Given the description of an element on the screen output the (x, y) to click on. 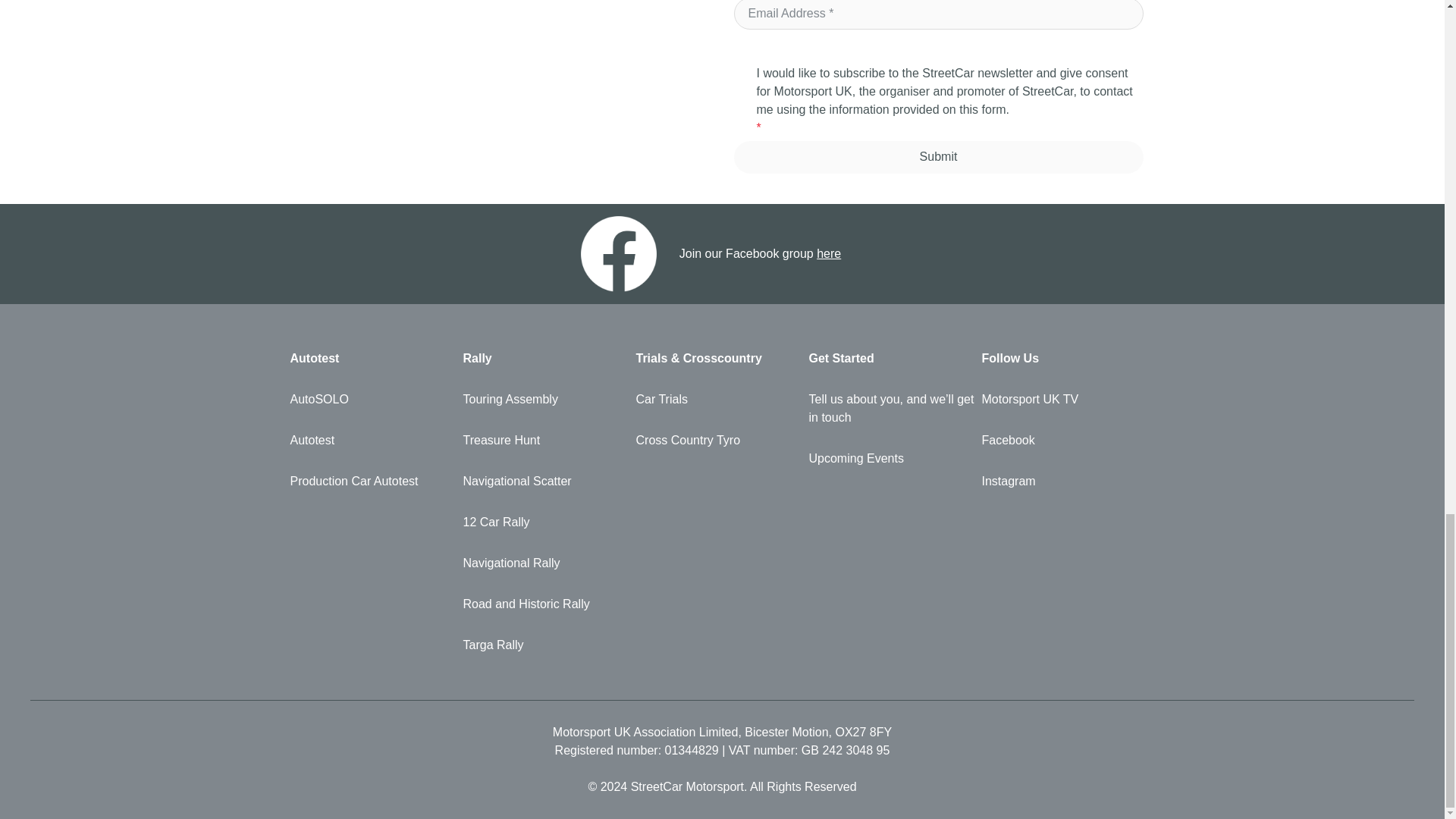
Treasure Hunt (545, 440)
here (828, 253)
Rally (545, 358)
AutoSOLO (371, 399)
Submit (937, 156)
Targa Rally (545, 645)
Navigational Rally (545, 563)
Production Car Autotest (371, 481)
Touring Assembly (545, 399)
Autotest (371, 440)
